Given the description of an element on the screen output the (x, y) to click on. 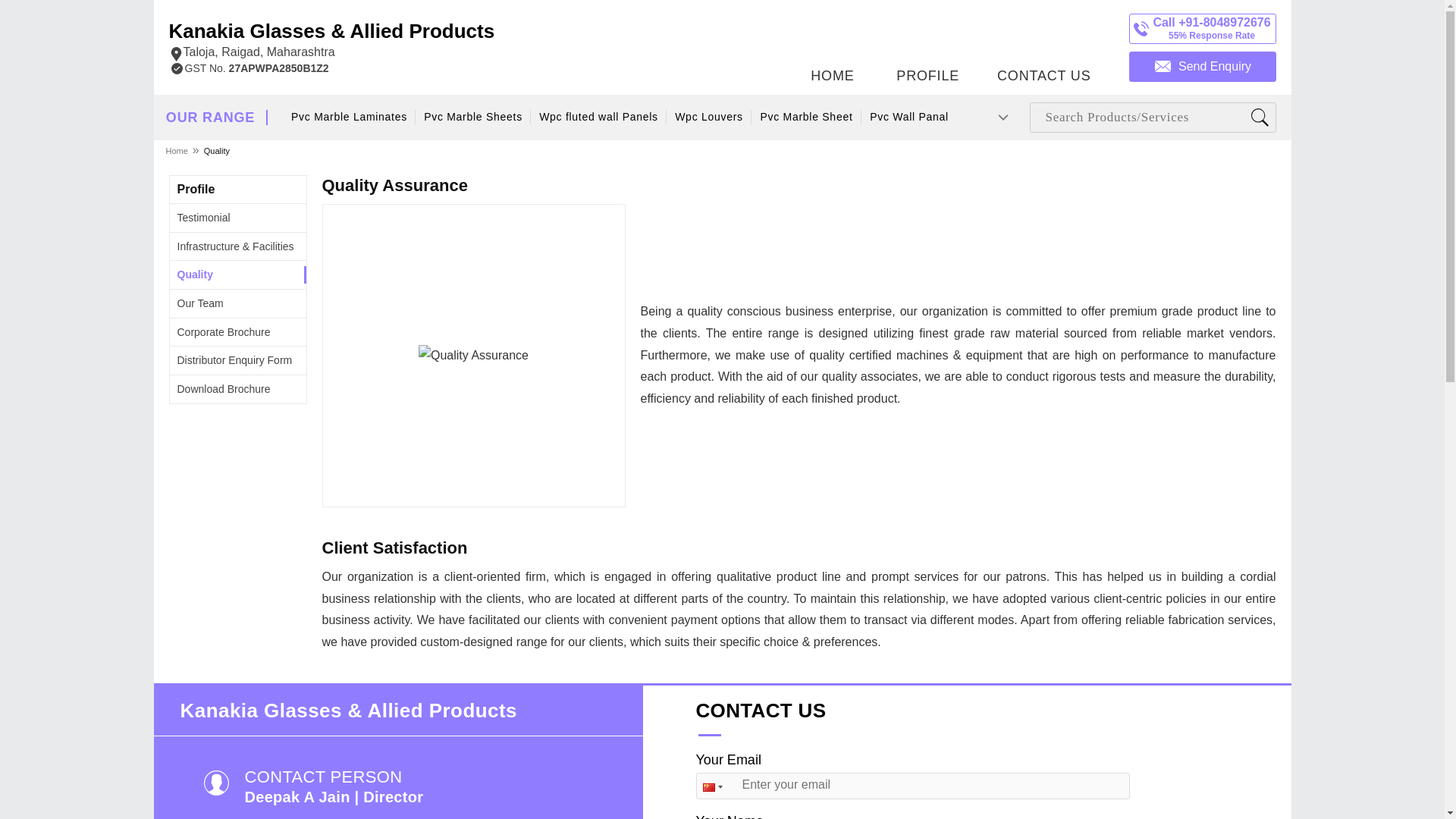
Pvc Marble Laminates (348, 117)
Quality (216, 150)
Pvc Marble Sheet (806, 117)
Pvc Marble Sheets (471, 117)
Quality (194, 274)
Corporate Brochure (223, 331)
Pvc Wall Panal (908, 117)
Wpc Louvers (708, 117)
Our Team (200, 303)
PROFILE (927, 43)
